Given the description of an element on the screen output the (x, y) to click on. 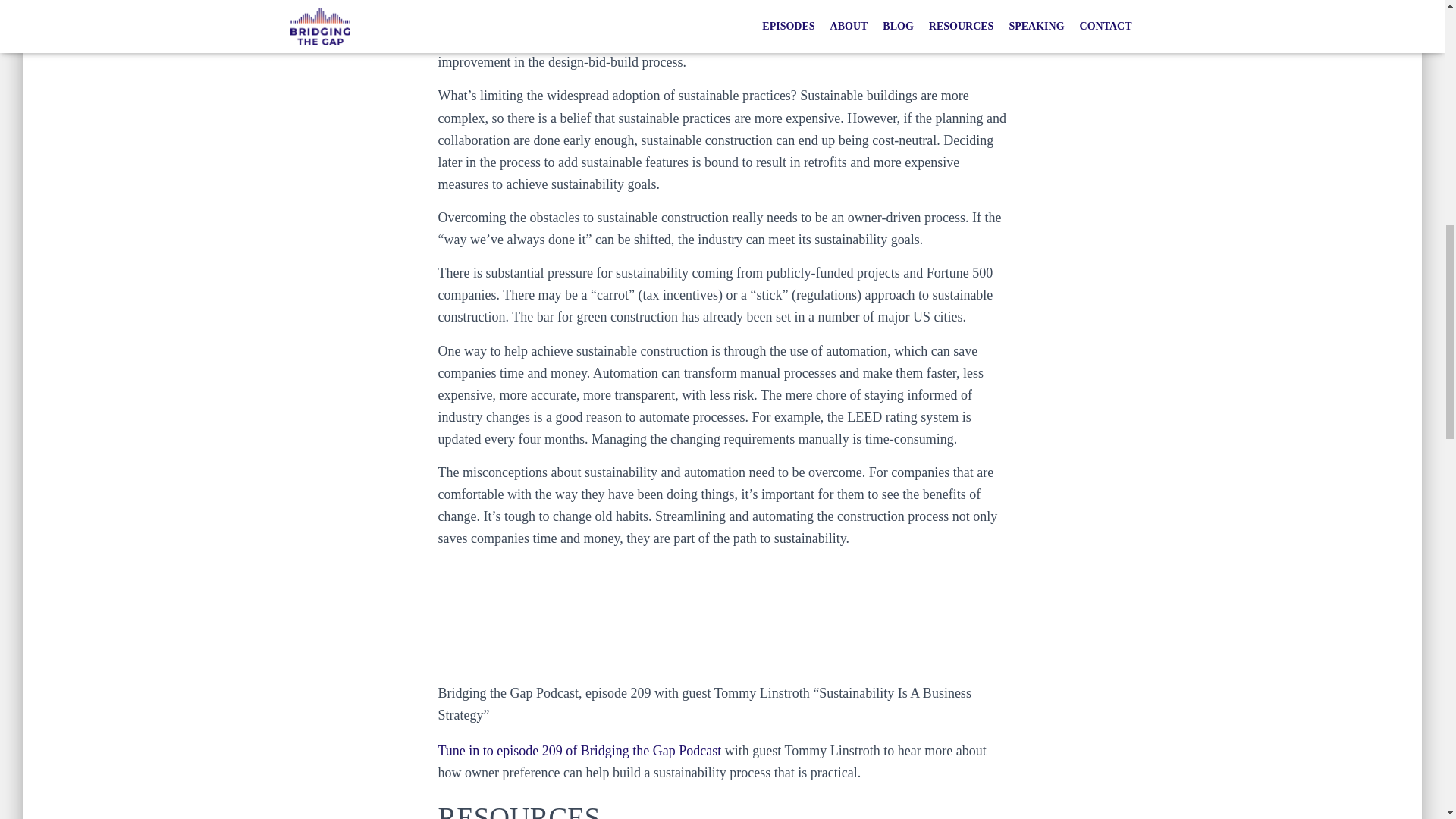
Tune in to episode 209 of Bridging the Gap Podcast (580, 750)
